Given the description of an element on the screen output the (x, y) to click on. 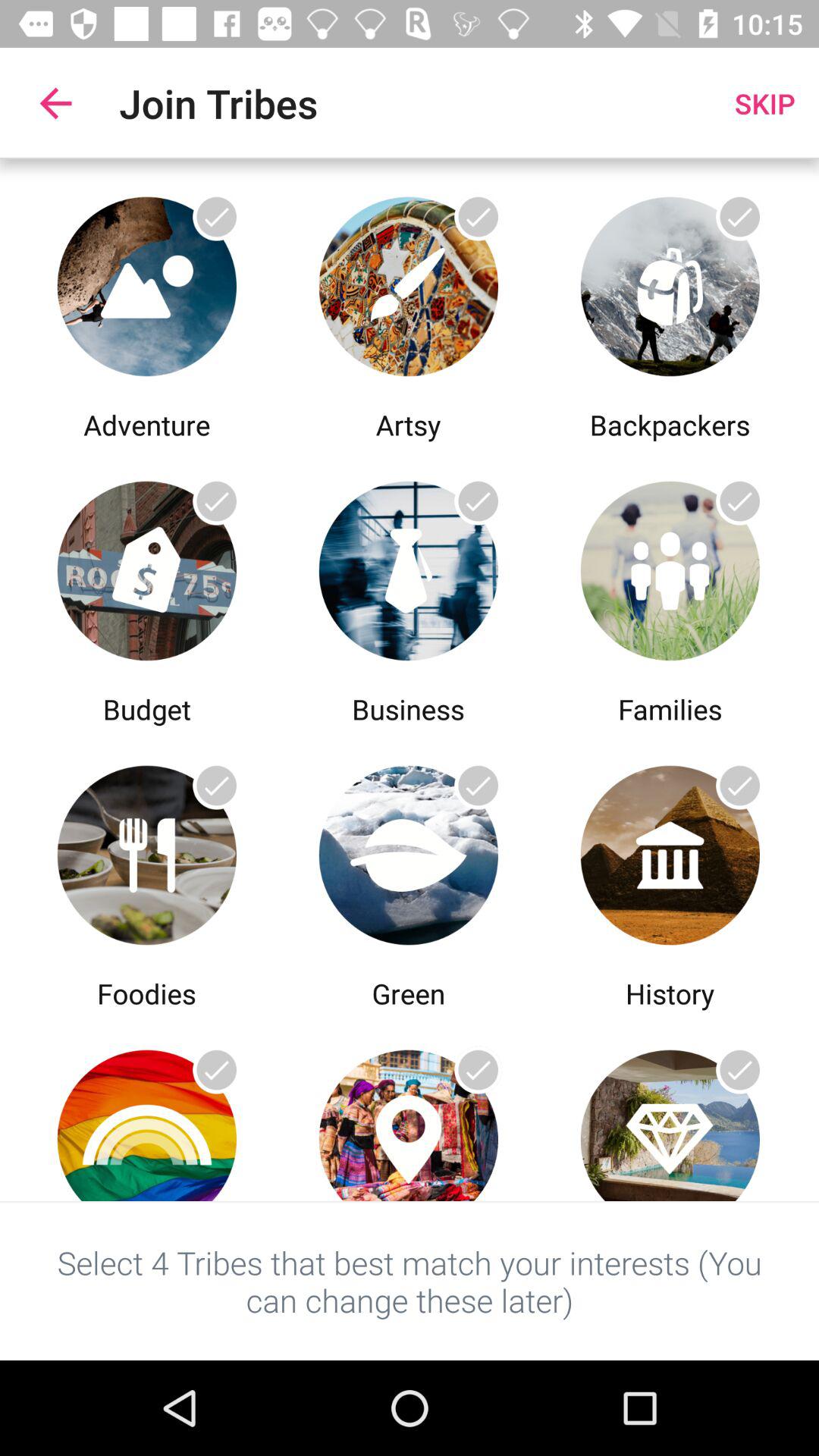
select the icon to the left of the join tribes (55, 103)
